Given the description of an element on the screen output the (x, y) to click on. 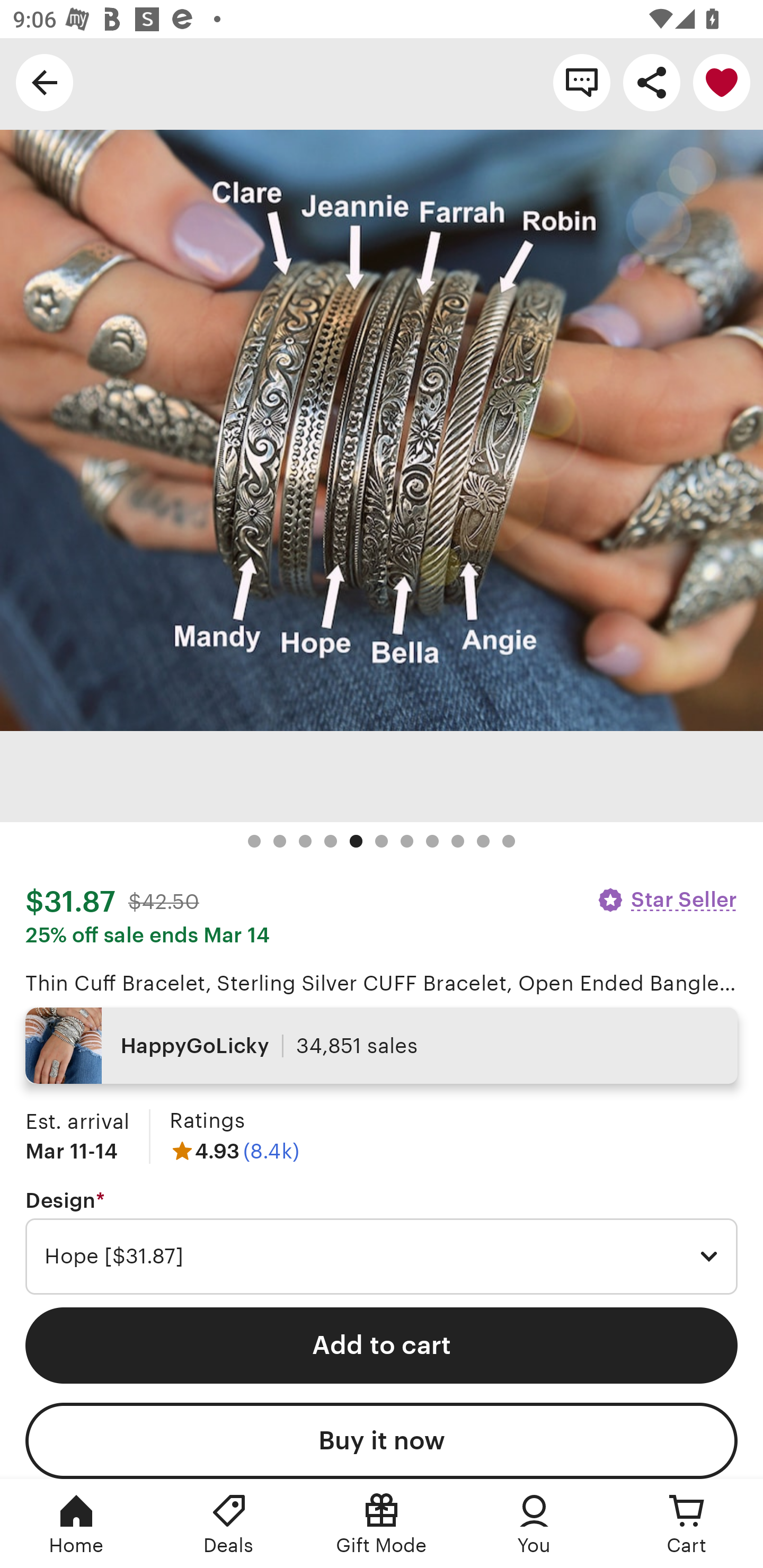
Navigate up (44, 81)
Contact shop (581, 81)
Share (651, 81)
Star Seller (666, 899)
HappyGoLicky 34,851 sales (381, 1045)
Ratings (206, 1120)
4.93 (8.4k) (234, 1150)
Design * Required Hope [$31.87] (381, 1241)
Hope [$31.87] (381, 1256)
Add to cart (381, 1344)
Buy it now (381, 1440)
Deals (228, 1523)
Gift Mode (381, 1523)
You (533, 1523)
Cart (686, 1523)
